Given the description of an element on the screen output the (x, y) to click on. 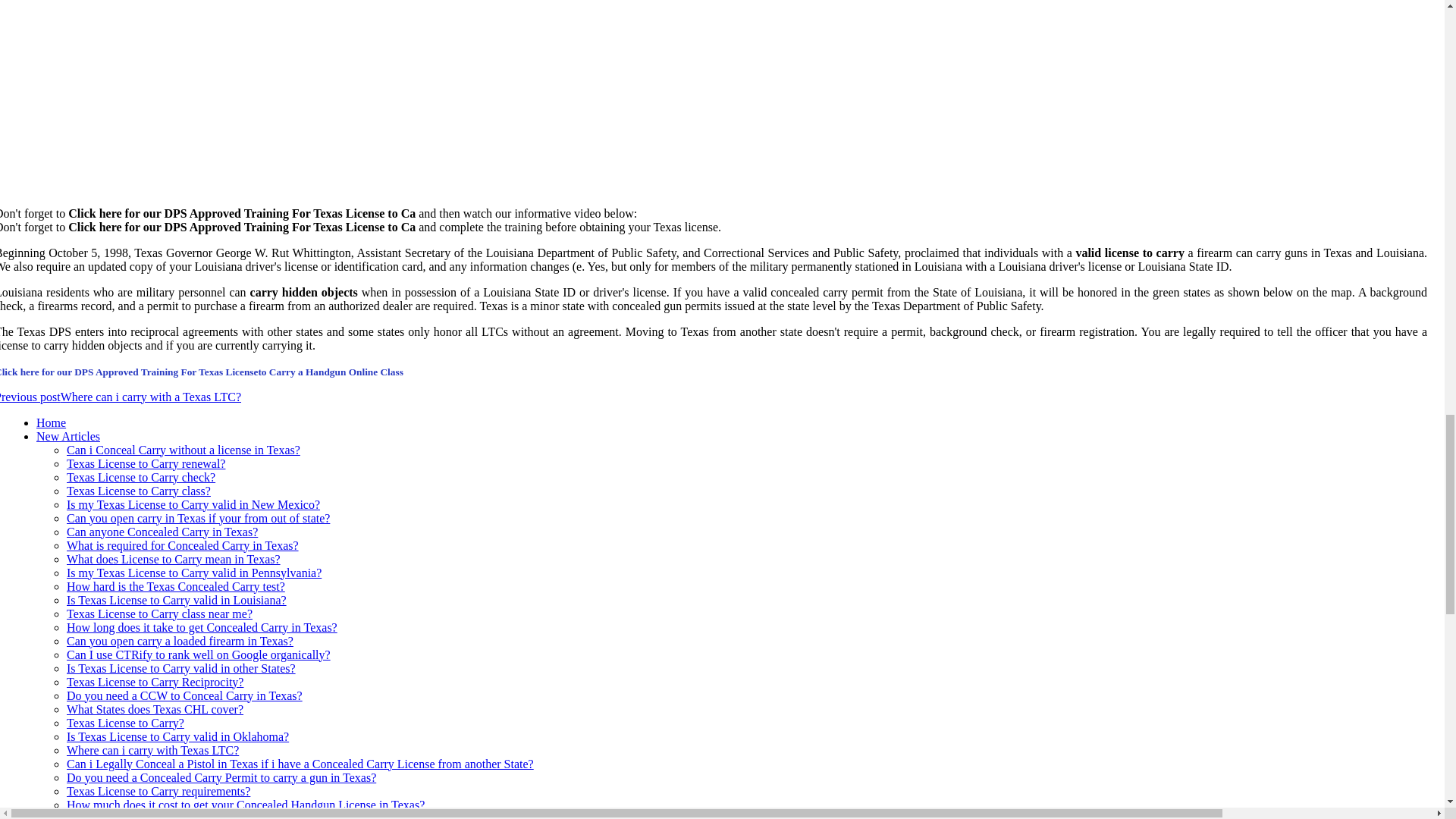
Texas License to Carry renewal? (145, 463)
Is Texas License to Carry valid in Oklahoma? (177, 736)
Is Texas License to Carry valid in Louisiana? (176, 599)
Can you open carry a loaded firearm in Texas? (180, 640)
Texas License to Carry class? (138, 490)
How hard is the Texas Concealed Carry test? (175, 585)
Can anyone Concealed Carry in Texas? (161, 531)
Can i Conceal Carry without a license in Texas? (182, 449)
Is my Texas License to Carry valid in Pennsylvania? (193, 572)
Previous postWhere can i carry with a Texas LTC? (120, 396)
Can I use CTRify to rank well on Google organically? (198, 654)
Texas License to Carry? (125, 722)
How long does it take to get Concealed Carry in Texas? (201, 626)
Texas License to Carry Reciprocity? (154, 681)
